Given the description of an element on the screen output the (x, y) to click on. 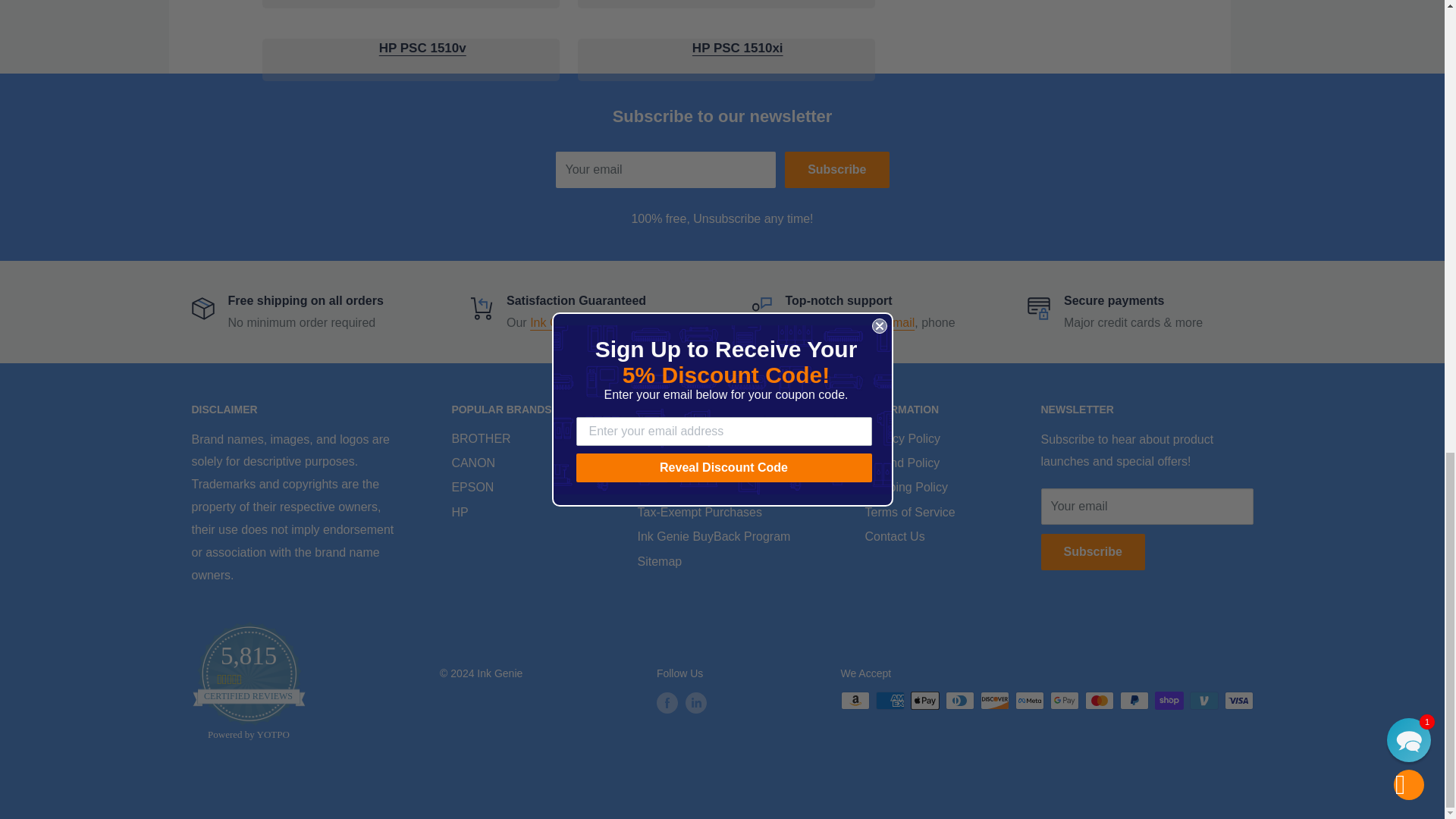
HP PSC 1510xi (738, 47)
HP PSC 1510v (421, 47)
